Given the description of an element on the screen output the (x, y) to click on. 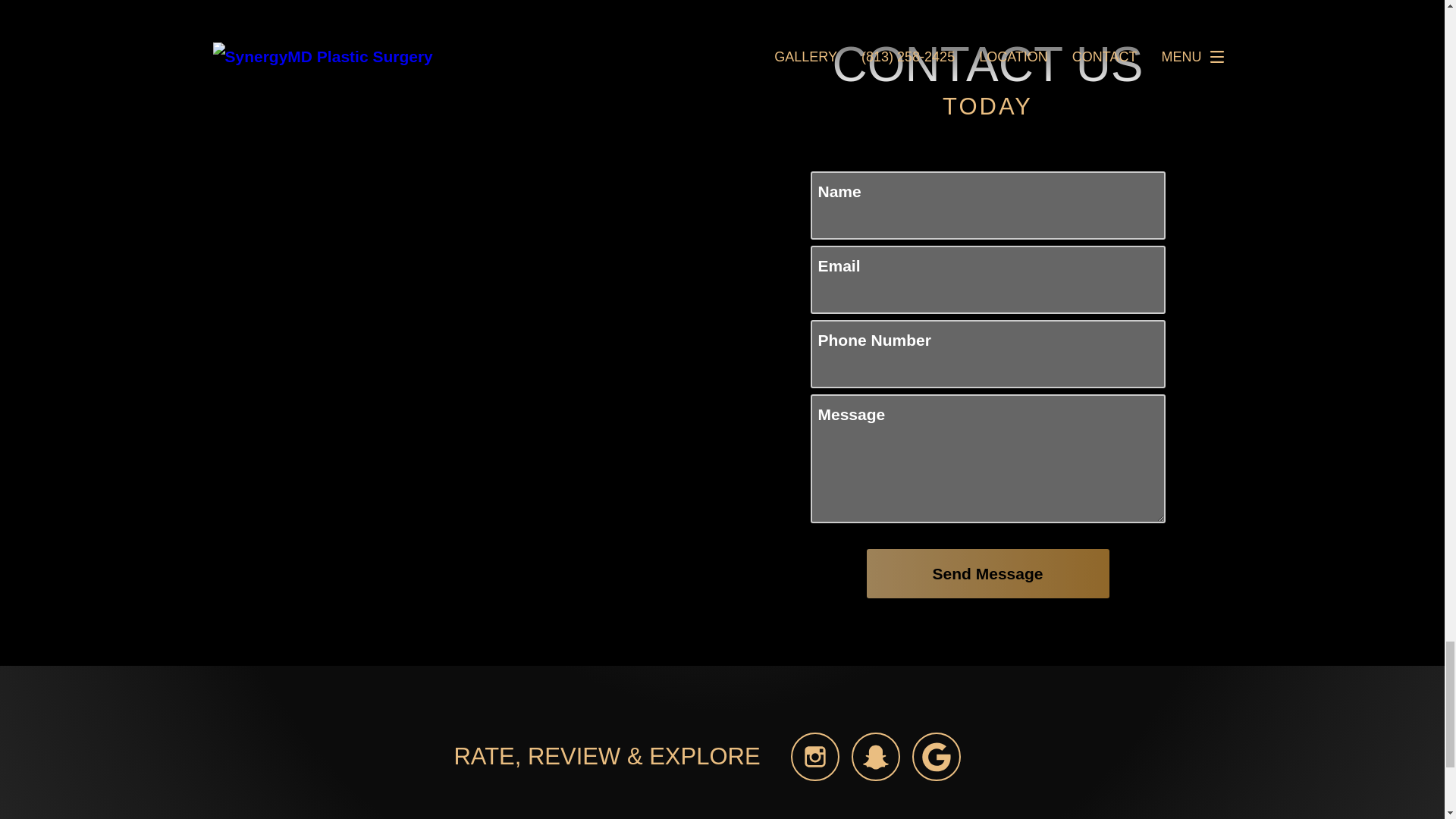
Send Message (987, 573)
Snapchat (875, 756)
Instagram (815, 756)
Google (936, 756)
